Given the description of an element on the screen output the (x, y) to click on. 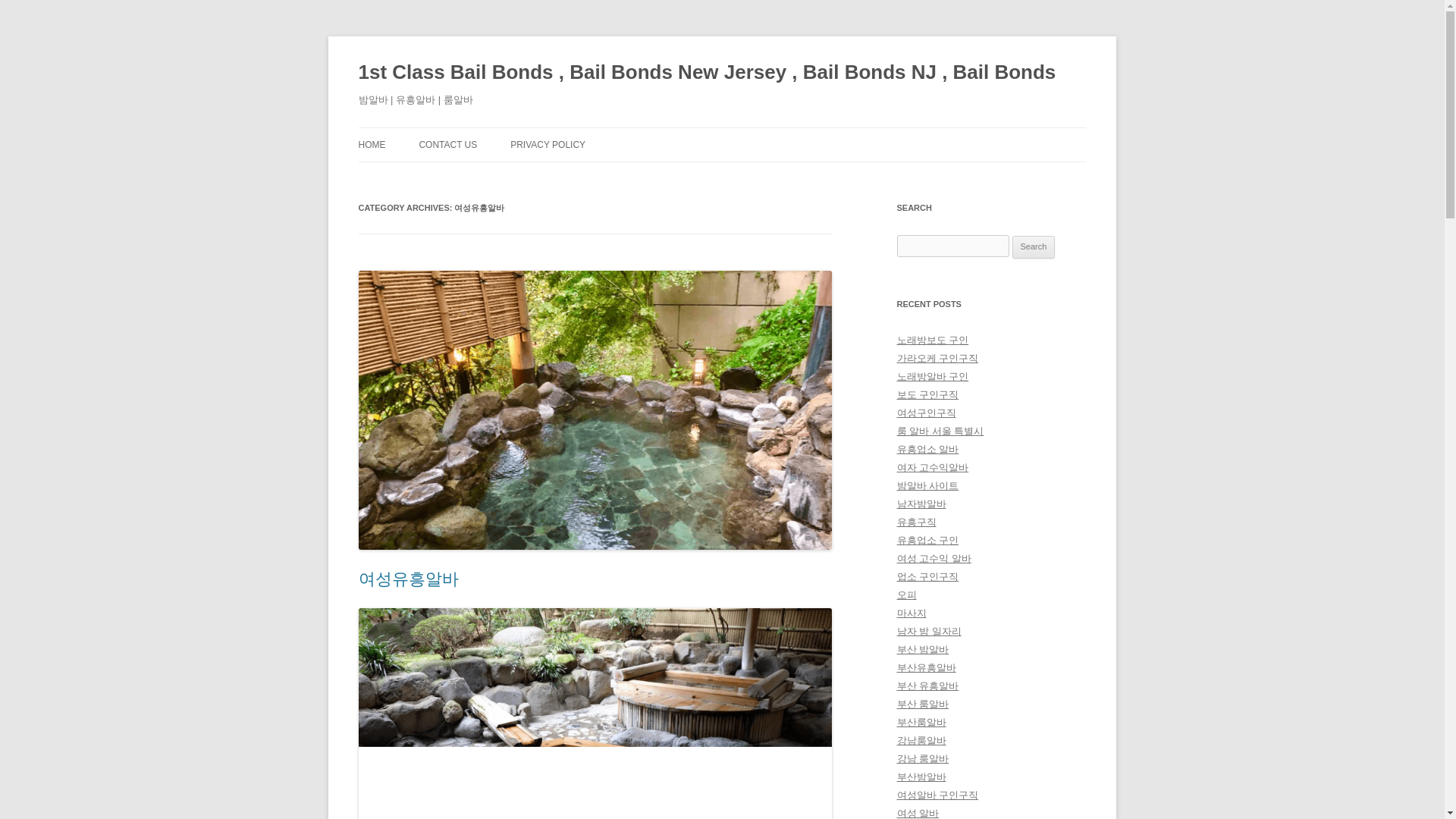
PRIVACY POLICY (548, 144)
CONTACT US (448, 144)
Search (1033, 246)
Search (1033, 246)
